Given the description of an element on the screen output the (x, y) to click on. 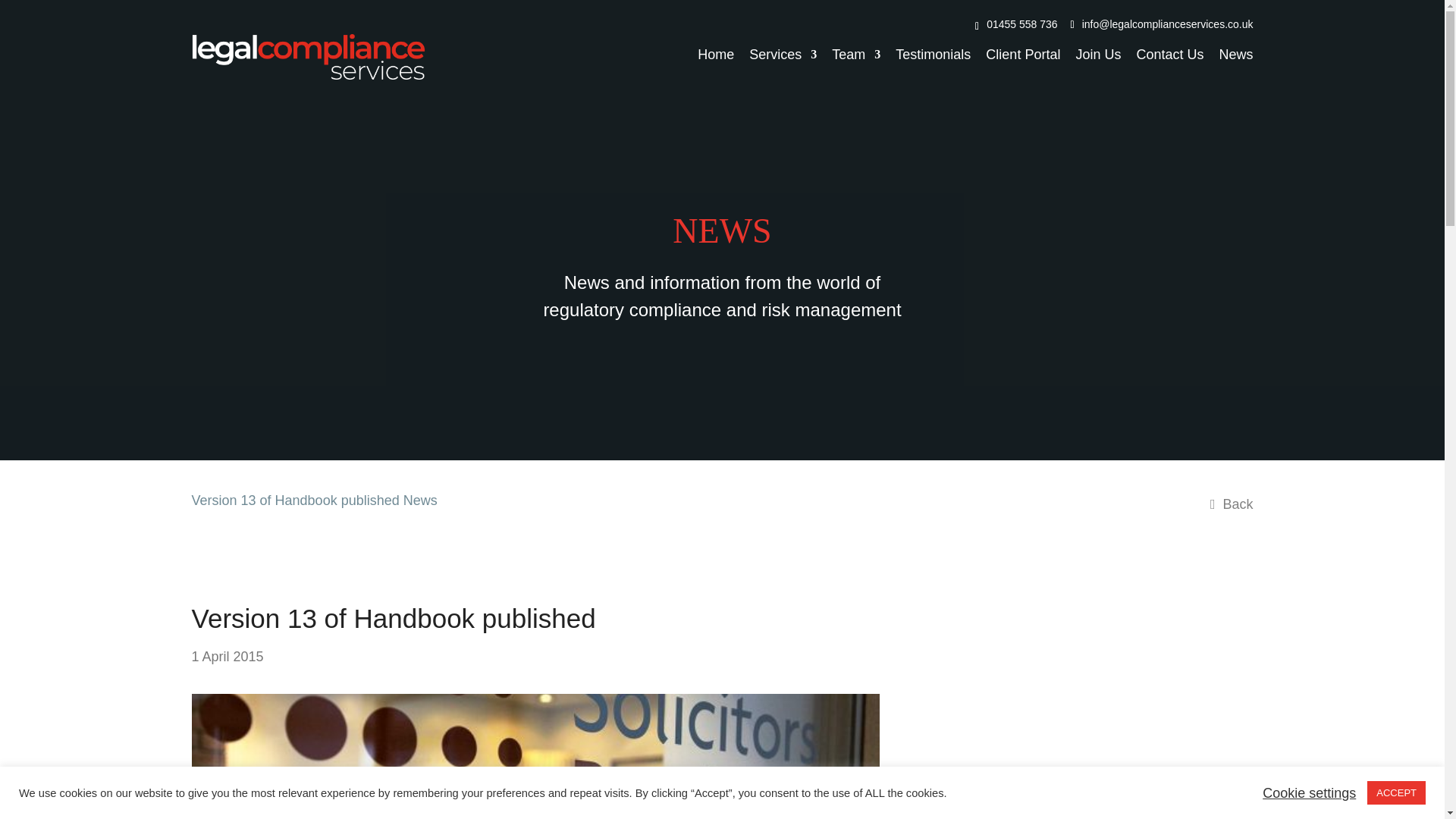
Home (715, 54)
Contact Us (1169, 54)
Client Portal (1022, 54)
Services (782, 54)
News (1235, 54)
Join Us (1098, 54)
Testimonials (933, 54)
Team (855, 54)
